Given the description of an element on the screen output the (x, y) to click on. 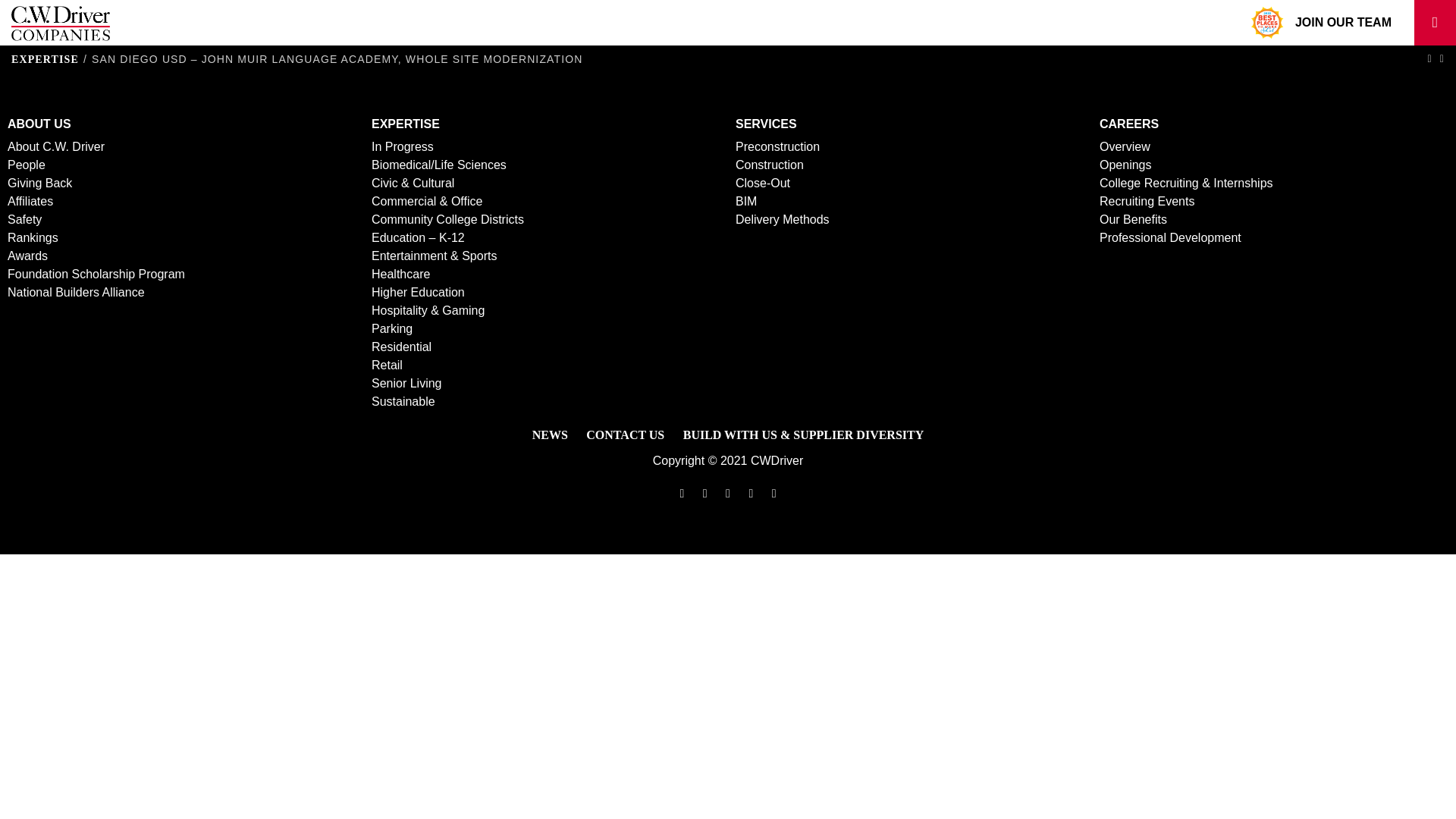
EXPERTISE (44, 59)
Rankings (32, 237)
Safety (24, 219)
Affiliates (29, 201)
People (26, 164)
In Progress (402, 146)
Awards (27, 255)
National Builders Alliance (75, 291)
C.W. Driver (60, 22)
Foundation Scholarship Program (95, 273)
